Given the description of an element on the screen output the (x, y) to click on. 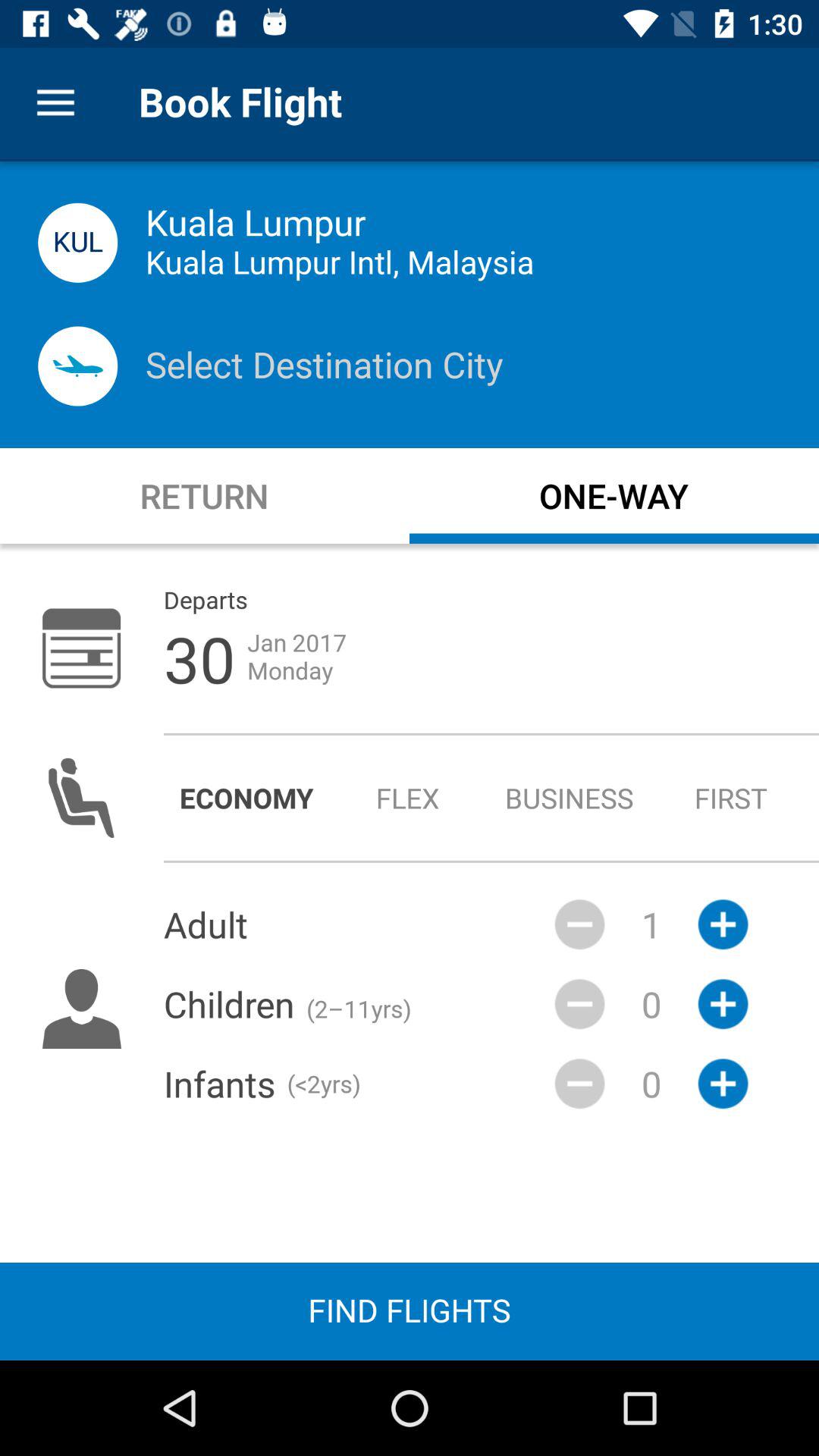
launch the item to the right of the business icon (731, 797)
